Given the description of an element on the screen output the (x, y) to click on. 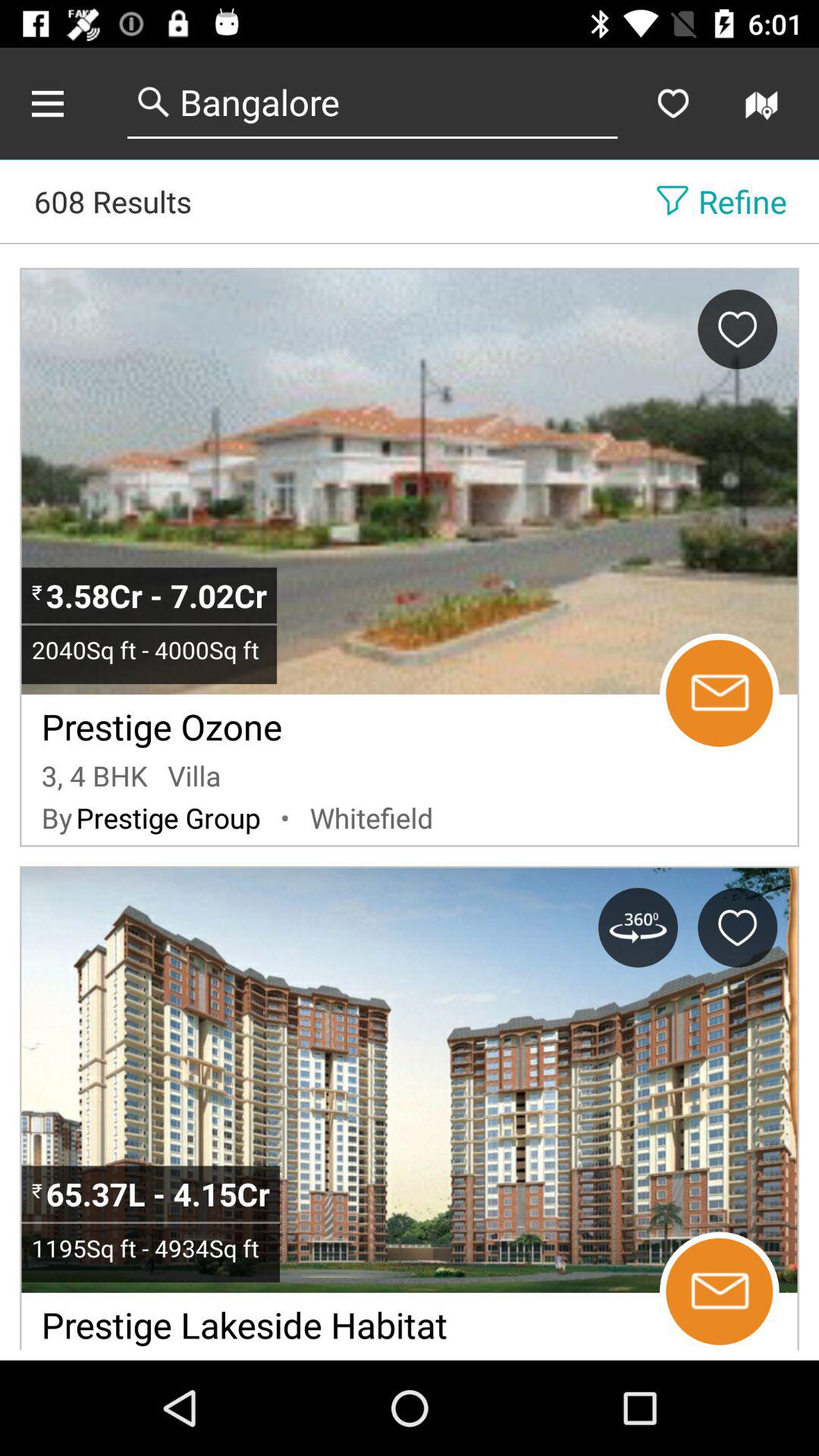
opens up a map view for a search result (764, 103)
